Given the description of an element on the screen output the (x, y) to click on. 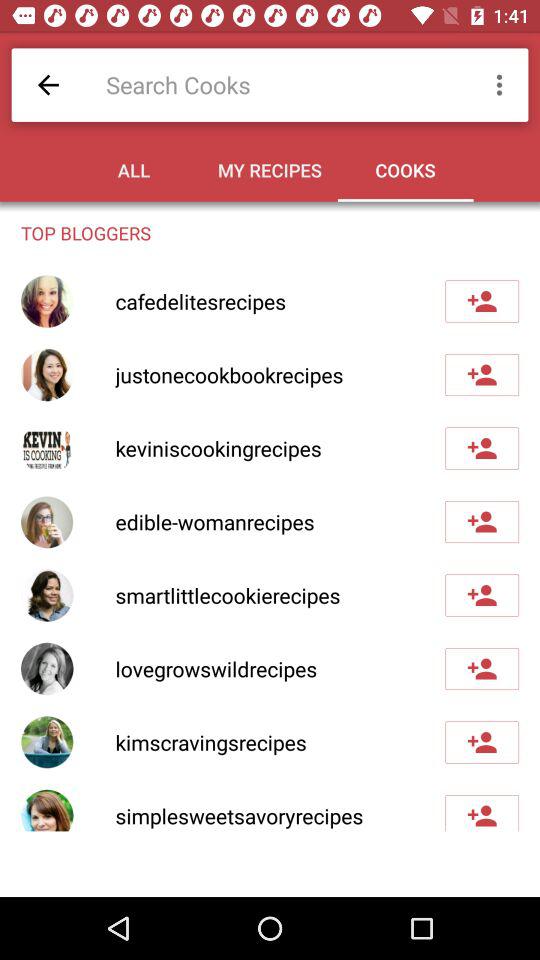
add blogger (482, 375)
